Given the description of an element on the screen output the (x, y) to click on. 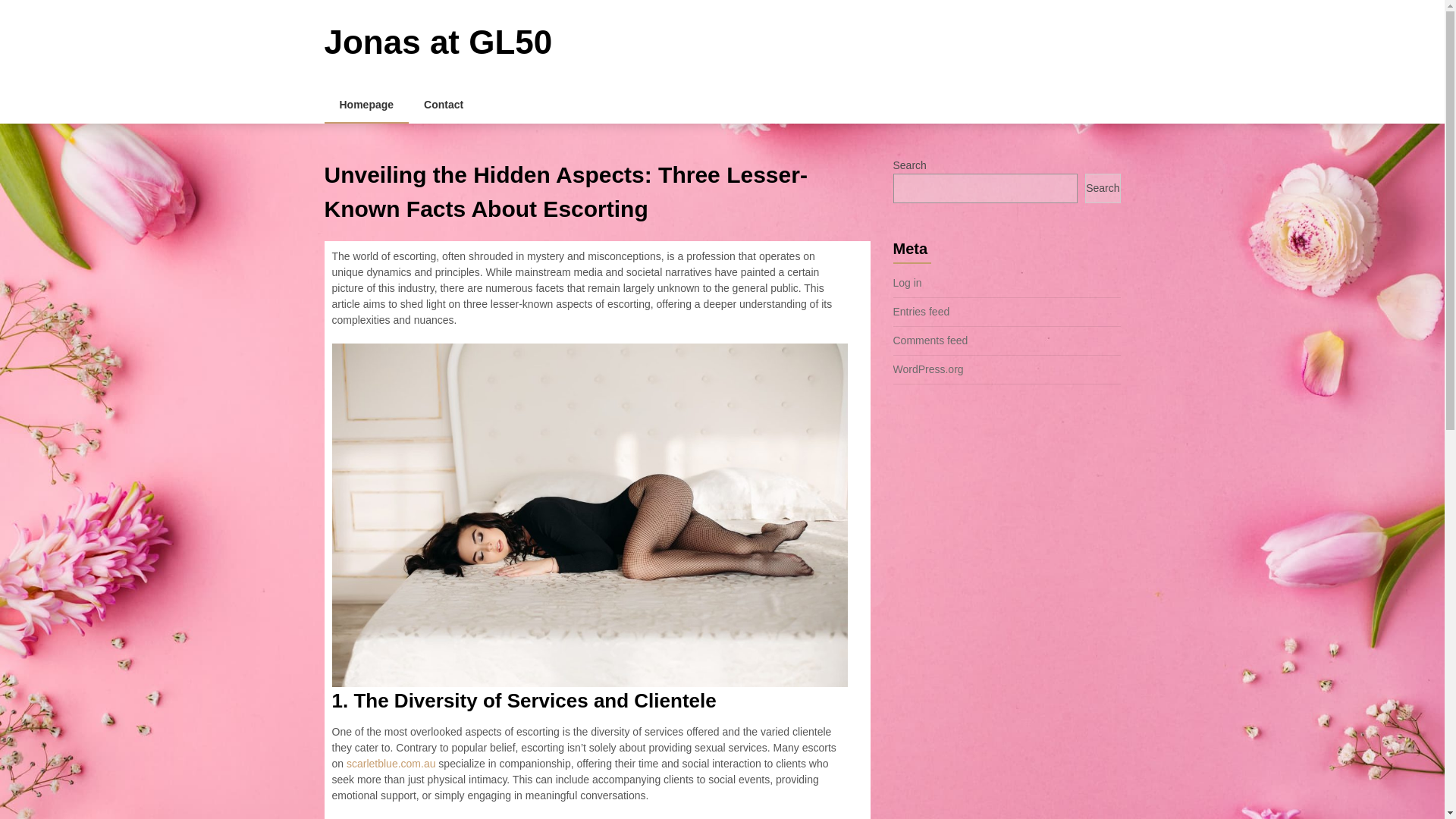
Entries feed (921, 311)
Log in (907, 282)
Comments feed (930, 340)
Homepage (366, 105)
Search (1101, 188)
Contact (444, 104)
Jonas at GL50 (438, 41)
scarletblue.com.au (390, 763)
WordPress.org (928, 369)
